Given the description of an element on the screen output the (x, y) to click on. 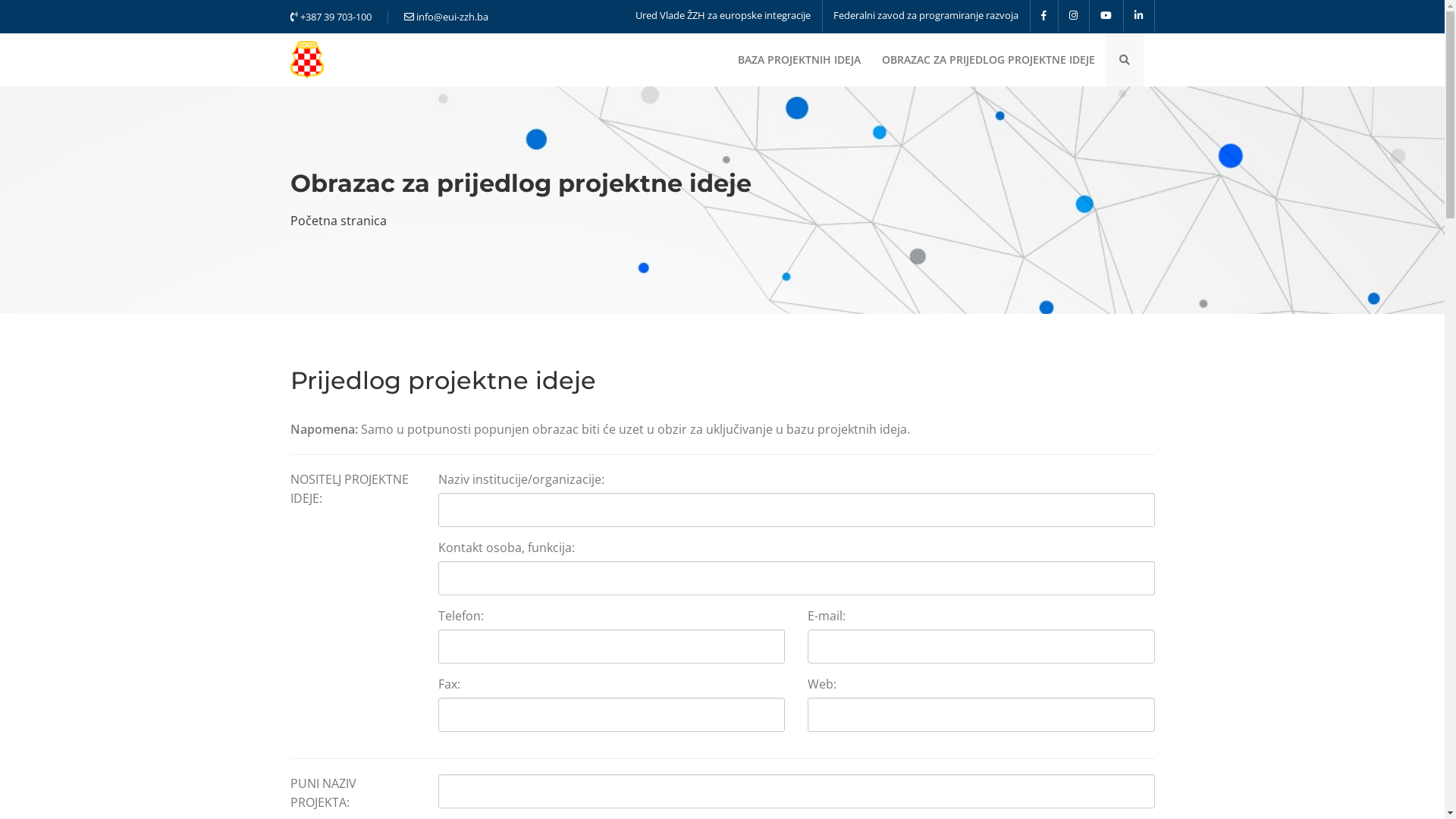
OBRAZAC ZA PRIJEDLOG PROJEKTNE IDEJE Element type: text (987, 59)
+387 39 703-100 Element type: text (329, 16)
Federalni zavod za programiranje razvoja Element type: text (924, 14)
BAZA PROJEKTNIH IDEJA Element type: text (798, 59)
info@eui-zzh.ba Element type: text (445, 16)
